Given the description of an element on the screen output the (x, y) to click on. 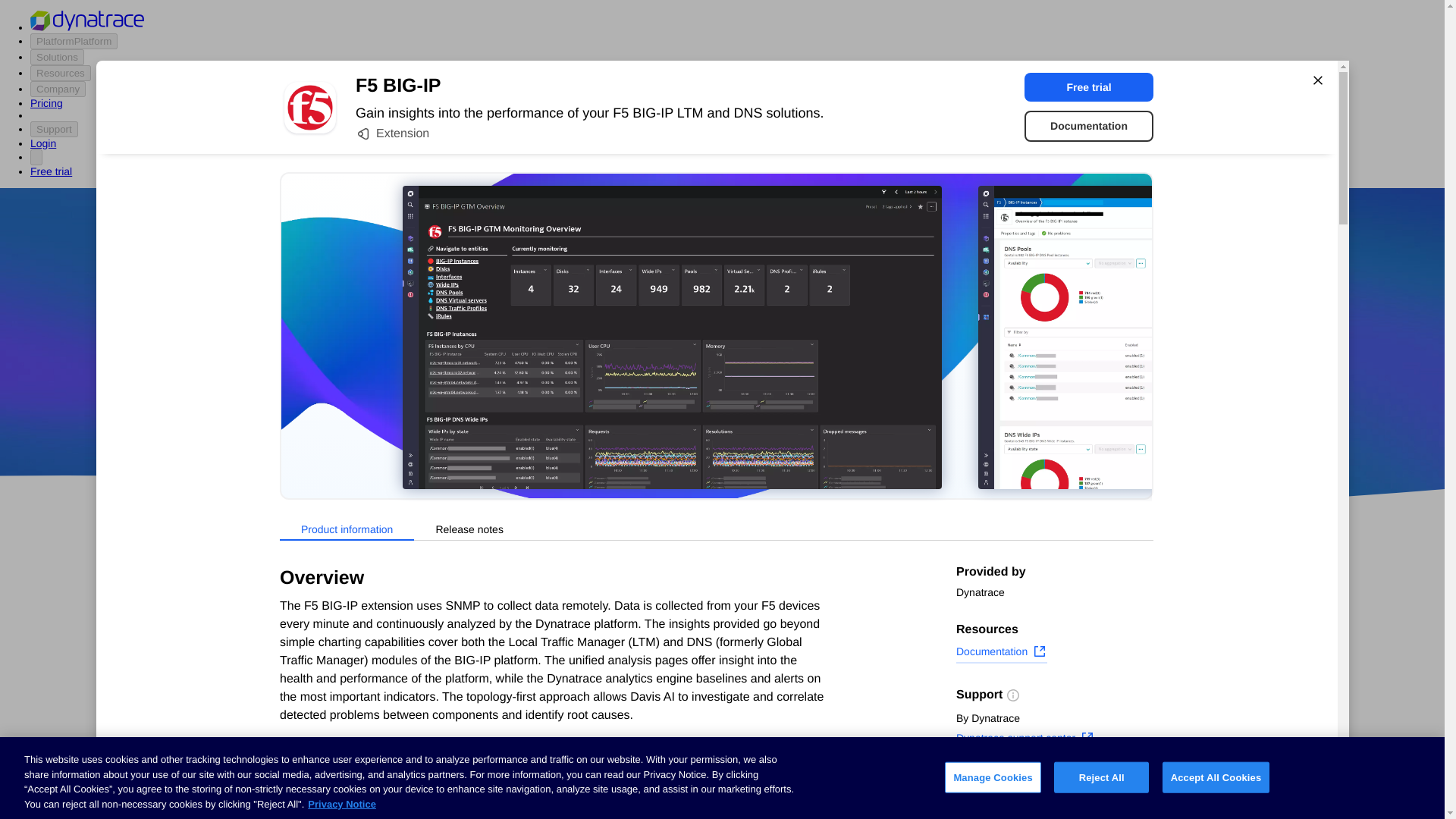
Documentation (1001, 653)
 certificate ssl synthetic test (607, 793)
DevOps (829, 418)
Documentation (1089, 125)
Open source (903, 418)
Dynatrace support center (1025, 740)
Azure (681, 418)
Copy page link (1003, 806)
360performance (840, 375)
Advanced SSL Certificate Check for Dynatrace (606, 731)
Subscribe to new releases (1054, 782)
Free trial (1089, 86)
360performance (840, 375)
Google Cloud (751, 418)
AWS (637, 418)
